Given the description of an element on the screen output the (x, y) to click on. 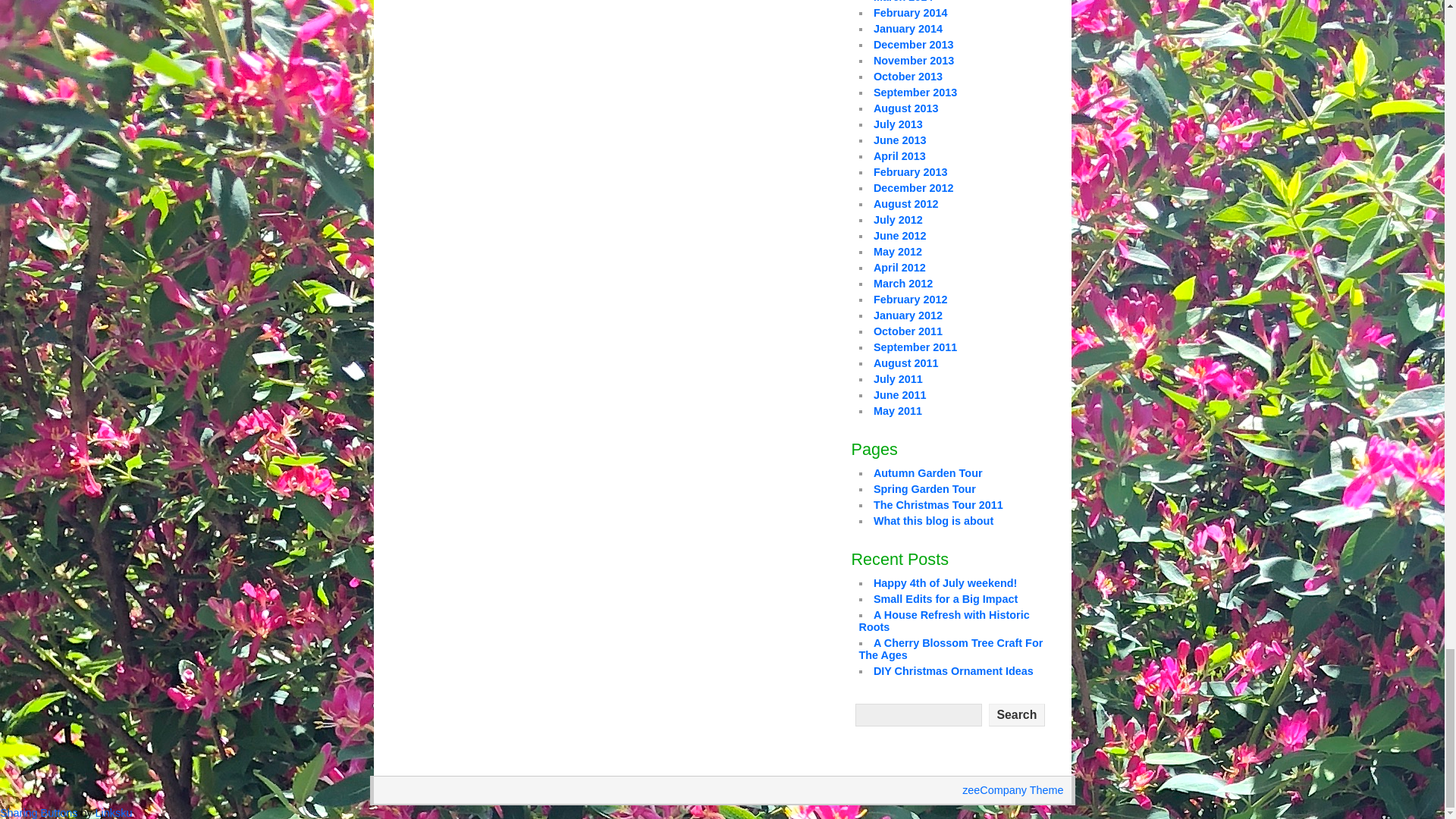
Search (1016, 714)
